Given the description of an element on the screen output the (x, y) to click on. 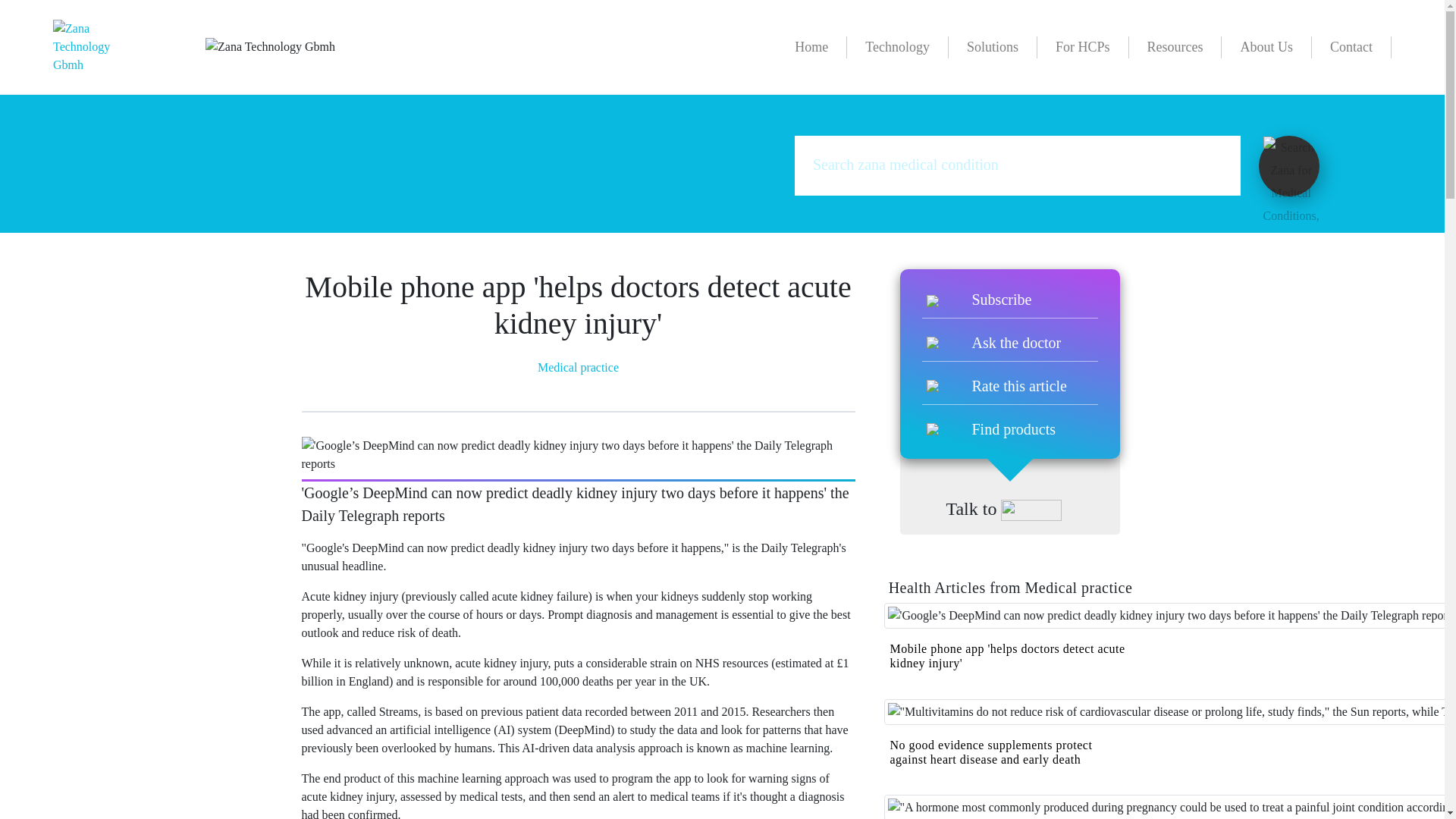
Mobile phone app 'helps doctors detect acute kidney injury' (1007, 655)
Home (811, 47)
Resources (1174, 47)
Medical practice (631, 83)
About Us (1266, 47)
For HCPs (1082, 47)
Technology (898, 47)
Health News (543, 83)
Medical practice (577, 367)
Contact (1351, 47)
Home (482, 83)
Solutions (992, 47)
